Given the description of an element on the screen output the (x, y) to click on. 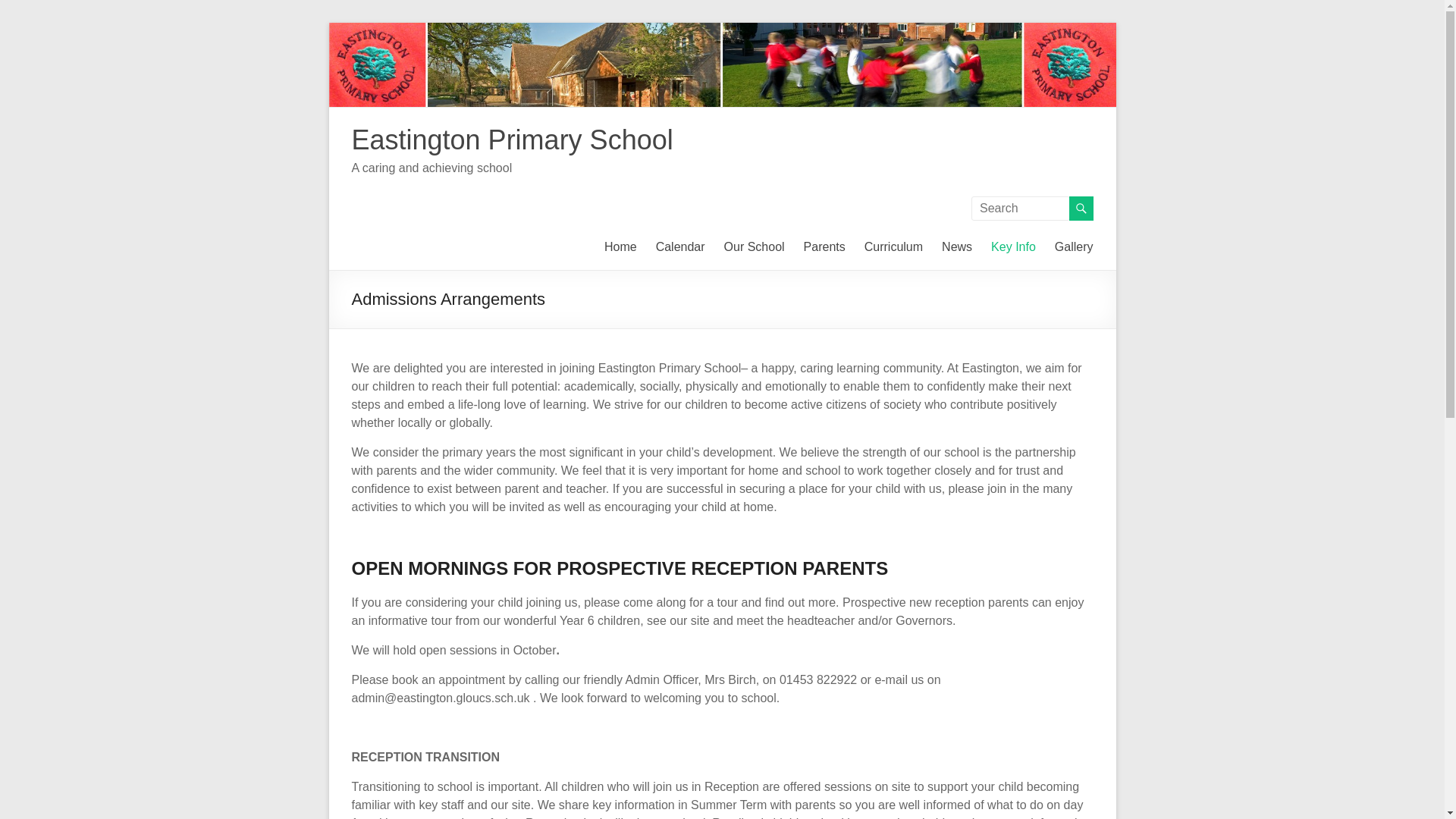
Our School (753, 246)
News (957, 246)
Key Info (1013, 246)
Home (620, 246)
Eastington Primary School (512, 139)
Eastington Primary School (512, 139)
Curriculum (893, 246)
Parents (824, 246)
Calendar (680, 246)
